Given the description of an element on the screen output the (x, y) to click on. 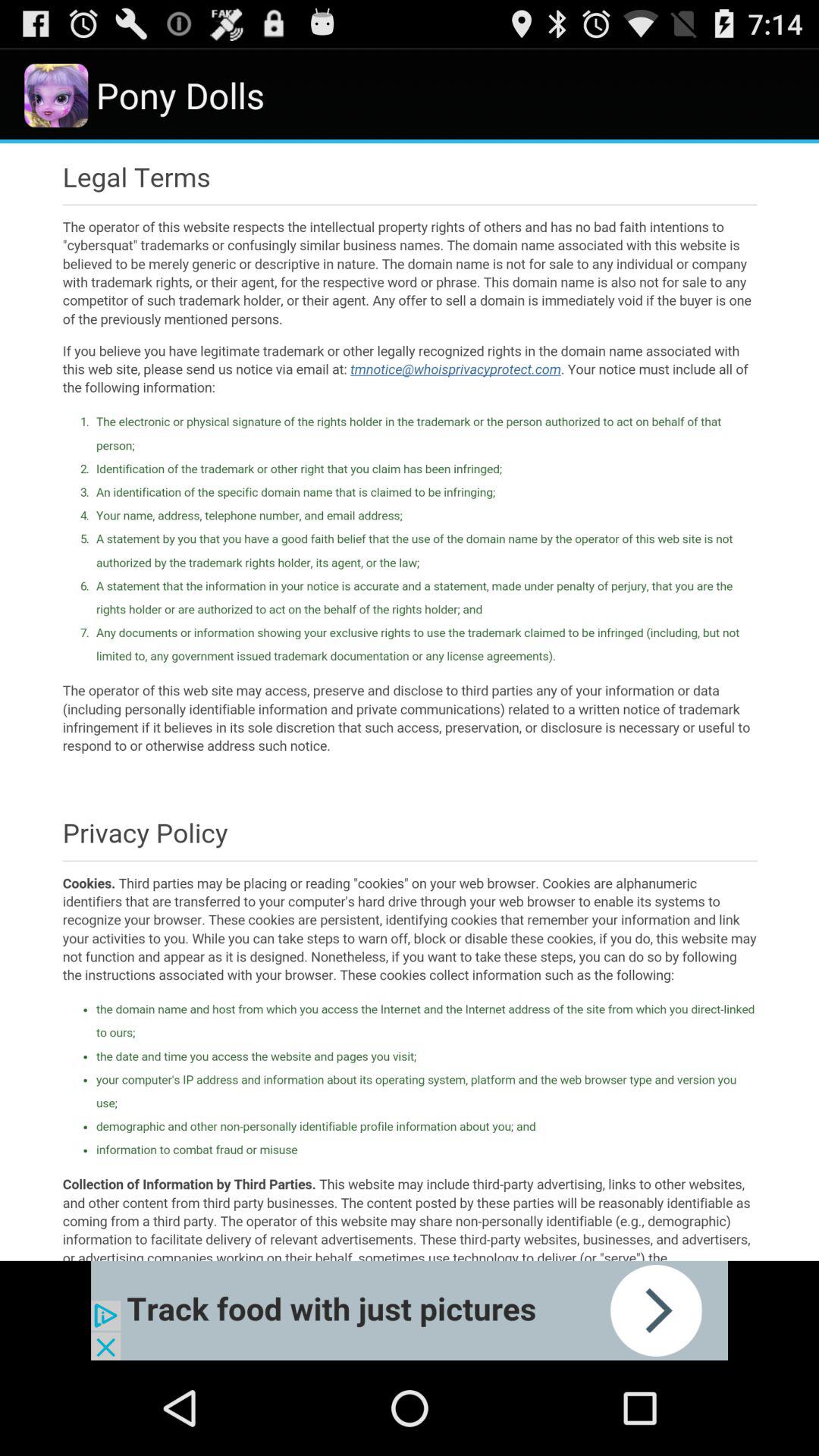
advertisement image or track food (409, 1310)
